Given the description of an element on the screen output the (x, y) to click on. 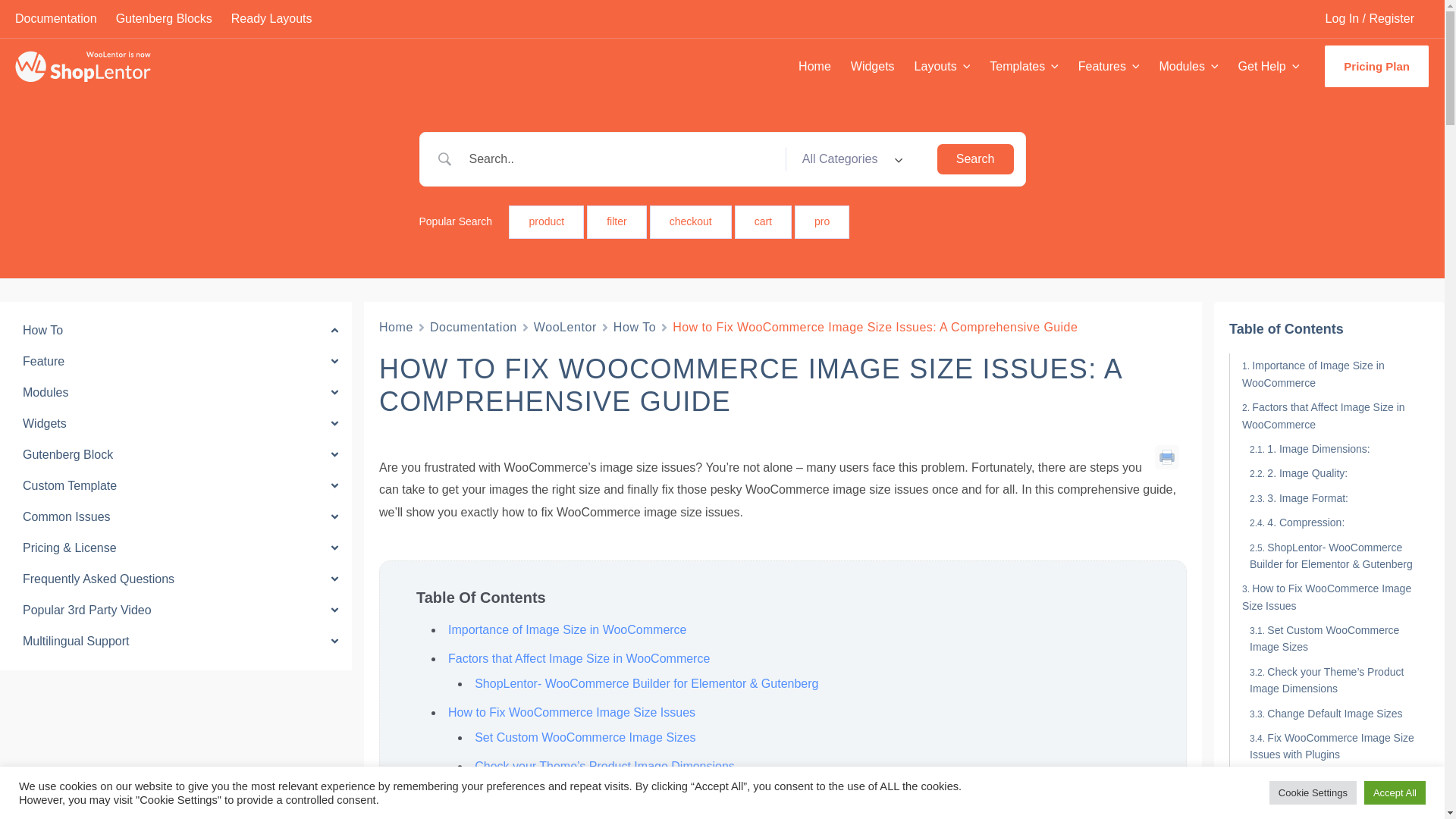
Documentation (65, 18)
Ready Layouts (281, 18)
Templates (1023, 65)
Documentation (472, 326)
How To (634, 326)
Home (815, 65)
Widgets (872, 65)
Home (395, 326)
Search (975, 159)
Gutenberg Blocks (173, 18)
WooLentor (565, 326)
Layouts (941, 65)
Search (975, 159)
